Given the description of an element on the screen output the (x, y) to click on. 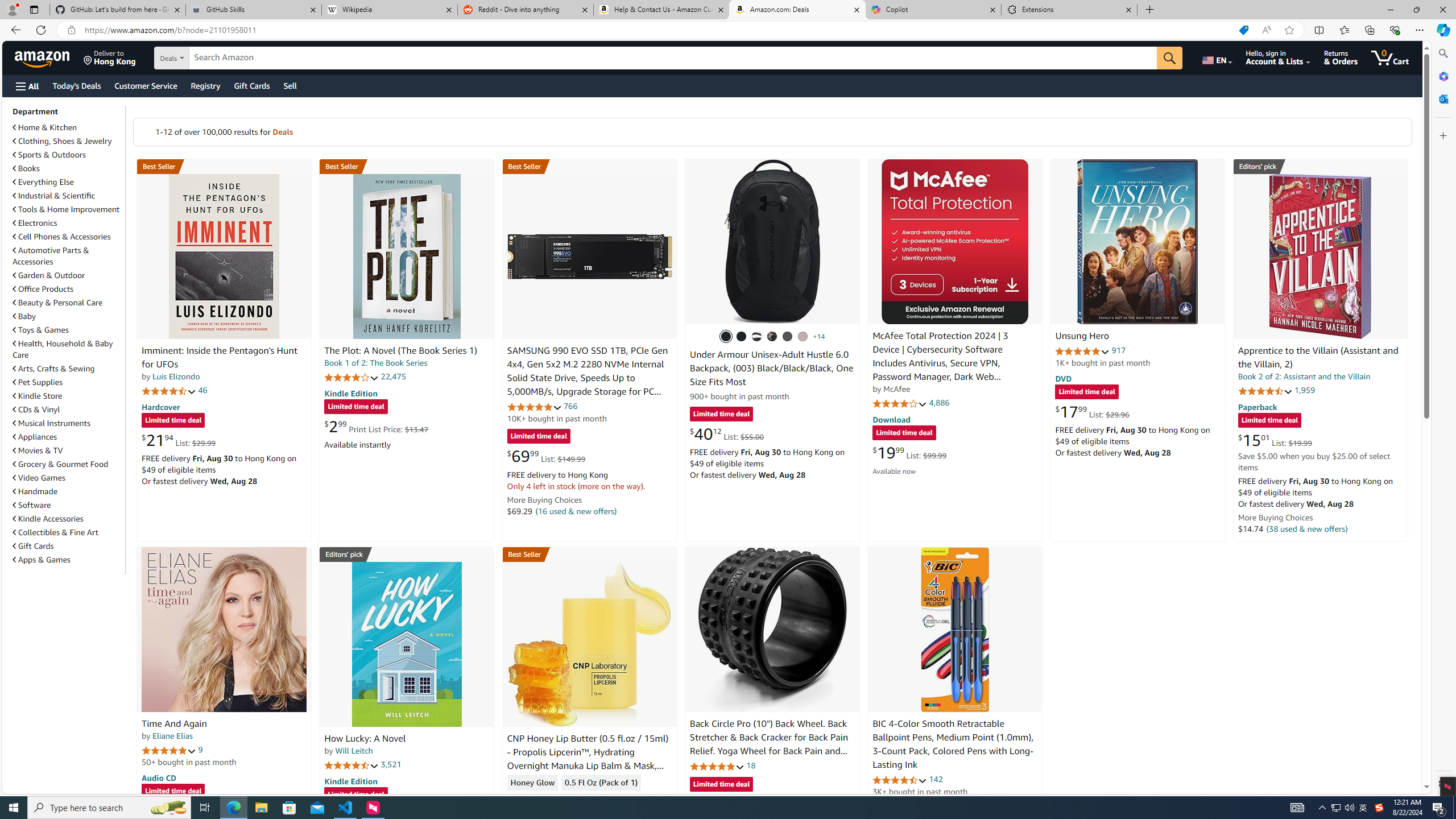
Musical Instruments (67, 423)
5.0 out of 5 stars (168, 750)
Pet Supplies (37, 381)
Search in (210, 58)
Customize (1442, 135)
Home & Kitchen (45, 127)
Unsung Hero (1137, 241)
3,521 (390, 764)
22,475 (393, 376)
Registry (205, 85)
Open Menu (26, 86)
